Given the description of an element on the screen output the (x, y) to click on. 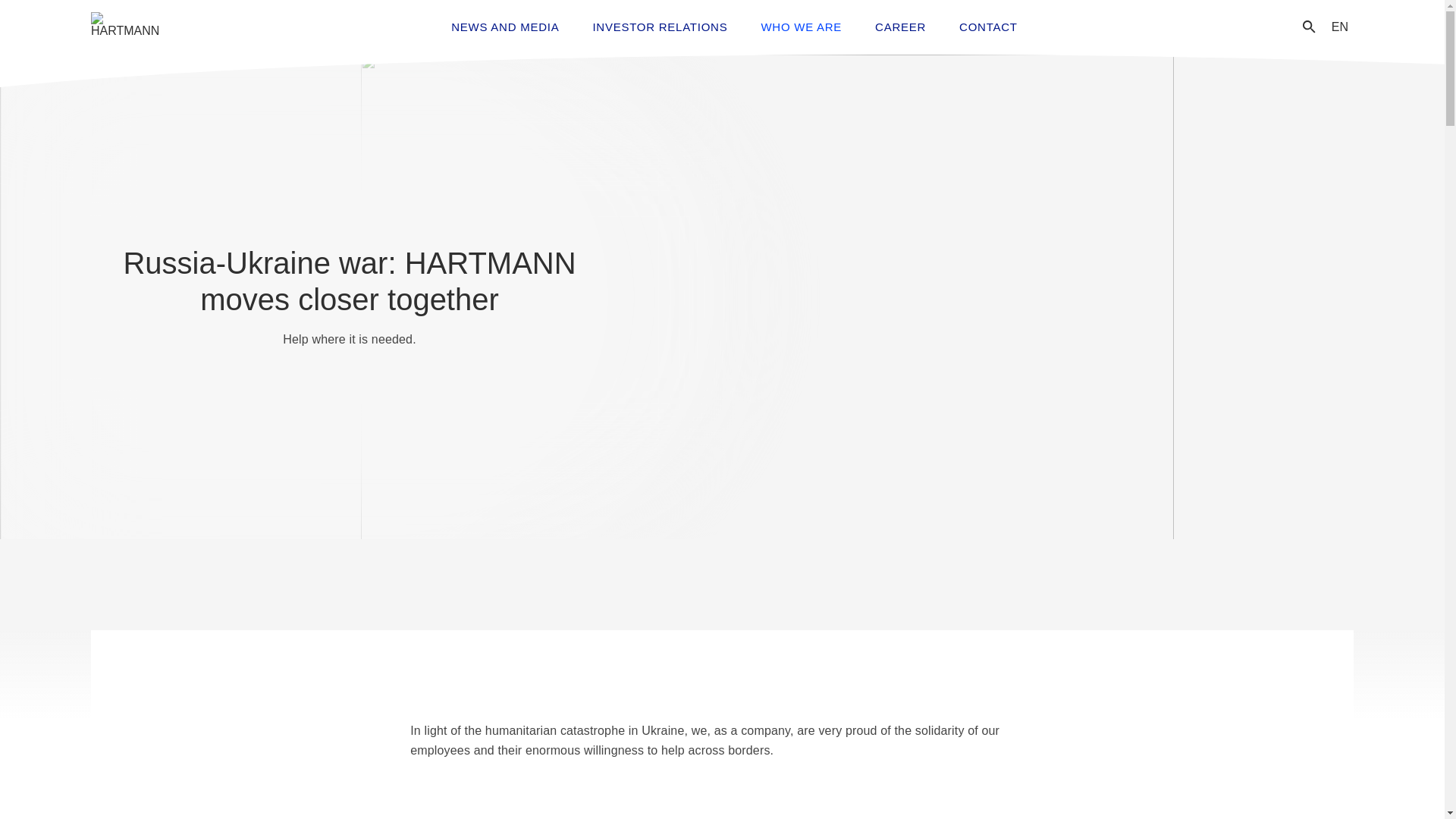
WHO WE ARE (801, 27)
NEWS AND MEDIA (504, 27)
CAREER (900, 27)
Home (125, 27)
CONTACT (987, 27)
INVESTOR RELATIONS (659, 27)
